Given the description of an element on the screen output the (x, y) to click on. 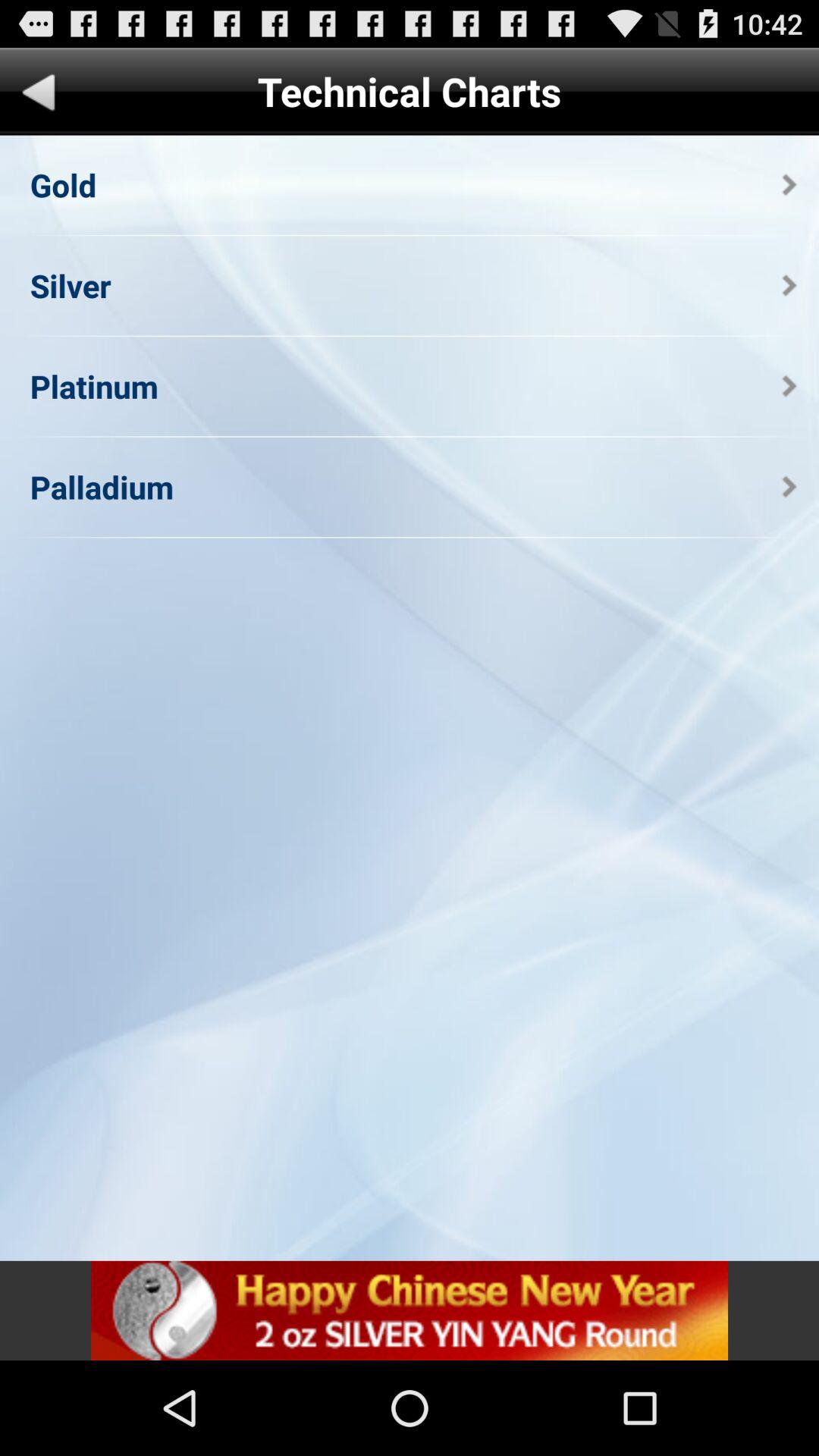
open app next to the silver icon (789, 285)
